Given the description of an element on the screen output the (x, y) to click on. 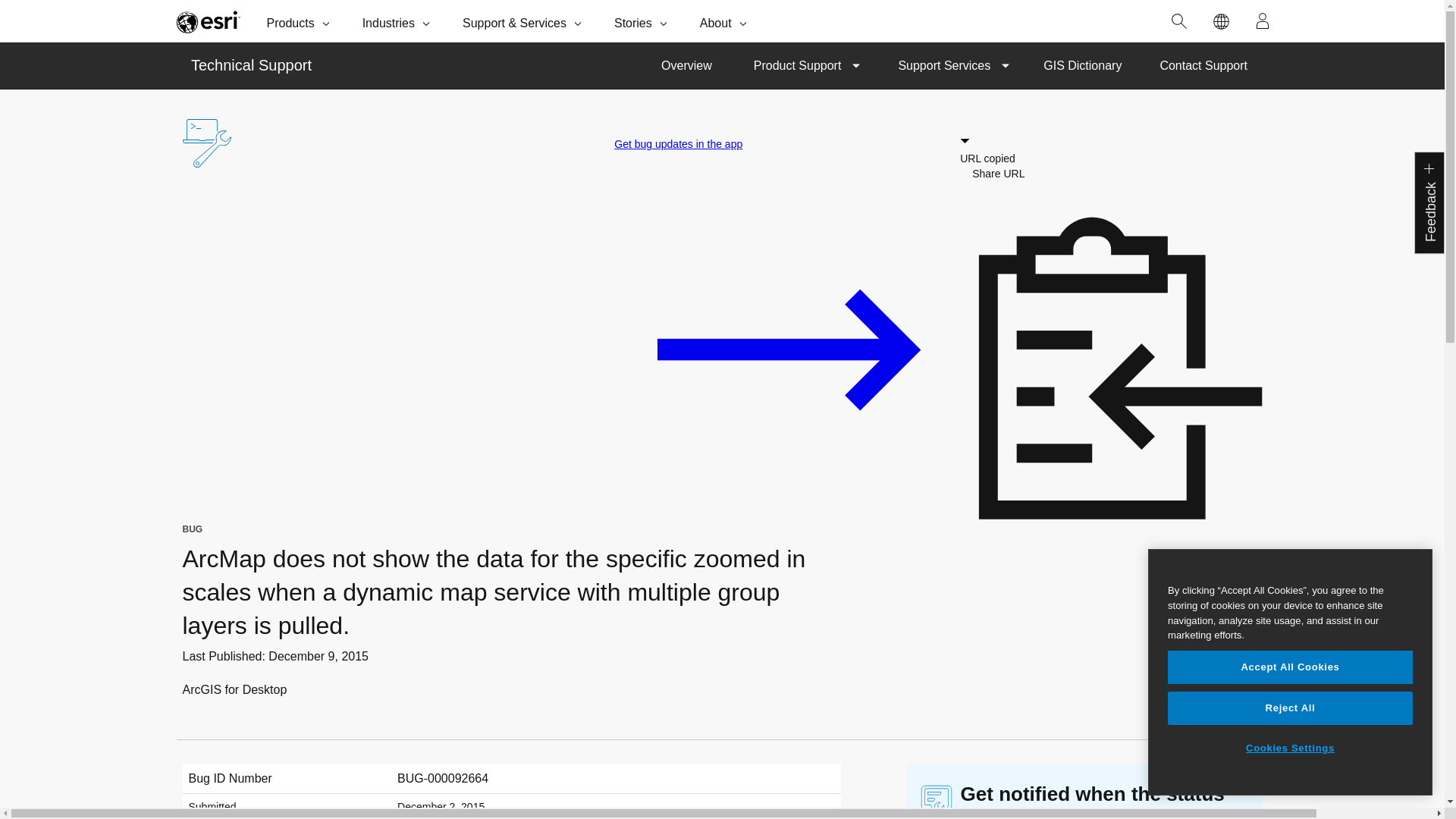
Products (299, 20)
Search (1178, 20)
Switch Language (1220, 20)
Industries (396, 20)
Esri home page (208, 21)
Esri home page (208, 21)
Sign In (1262, 20)
Esri home page (208, 21)
